Given the description of an element on the screen output the (x, y) to click on. 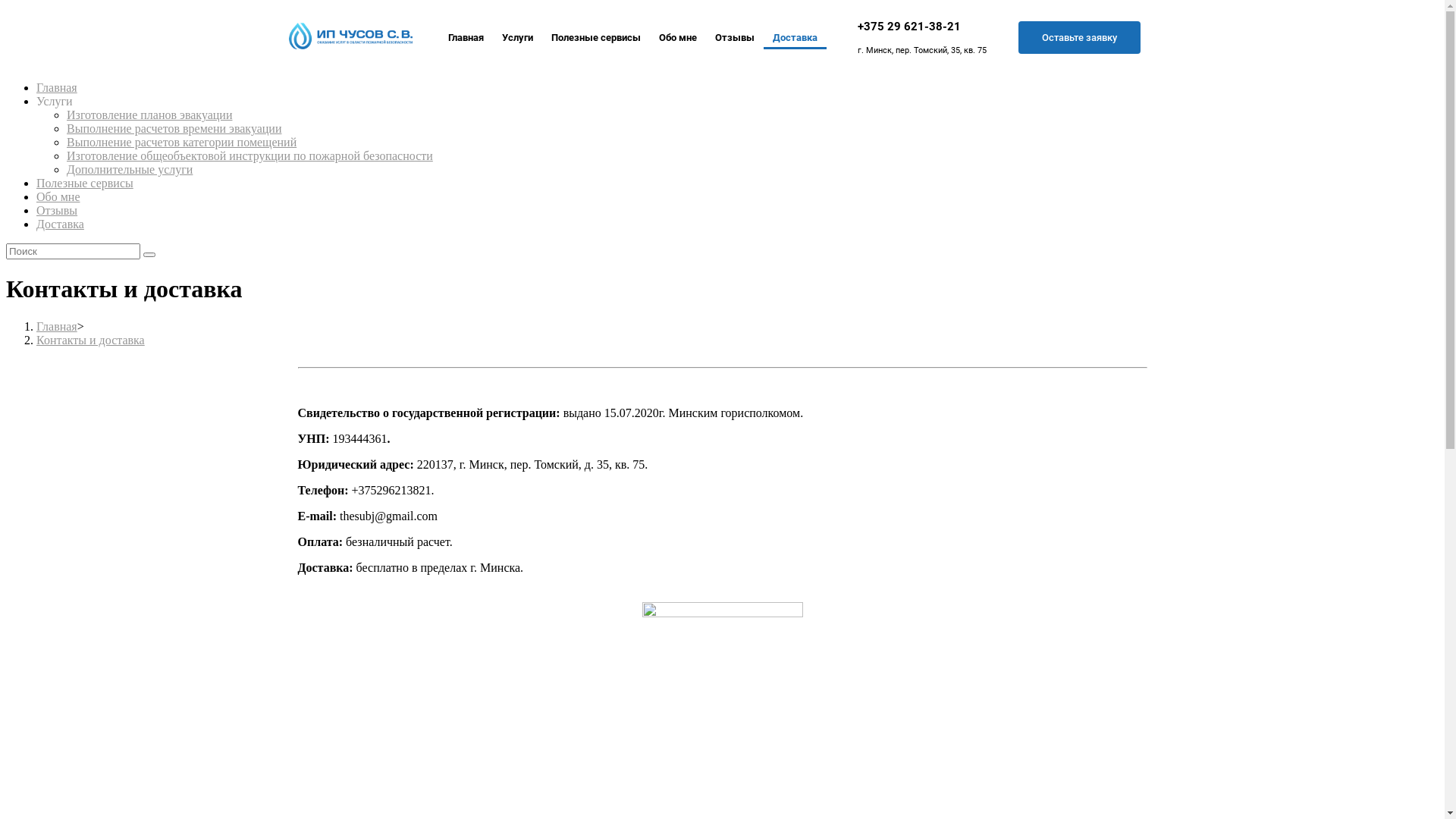
+375 29 621-38-21 Element type: text (908, 26)
